Given the description of an element on the screen output the (x, y) to click on. 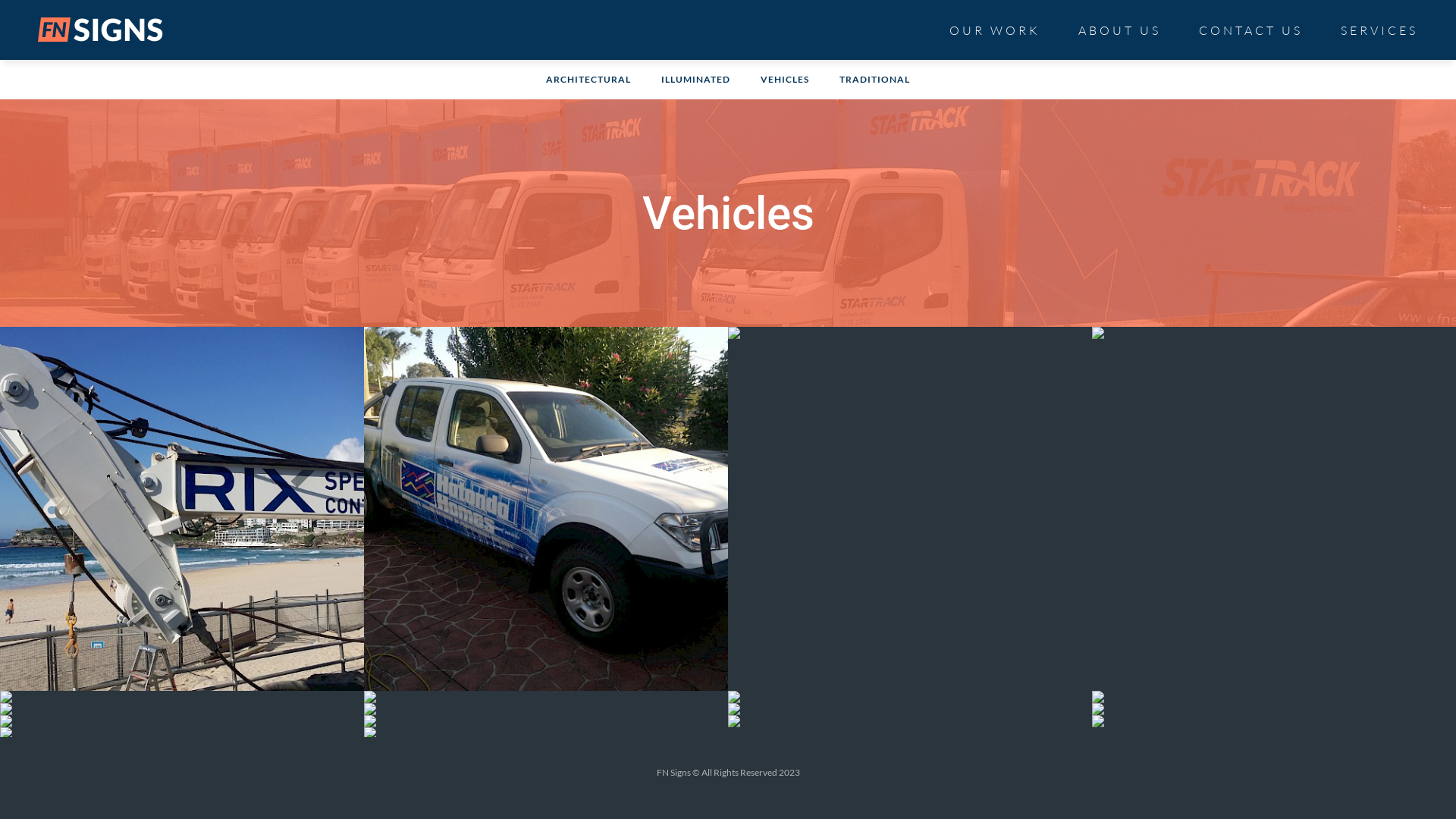
SERVICES Element type: text (1379, 27)
OUR WORK Element type: text (994, 27)
TRADITIONAL Element type: text (874, 78)
ARCHITECTURAL Element type: text (588, 78)
VEHICLES Element type: text (784, 78)
CONTACT US Element type: text (1250, 27)
ILLUMINATED Element type: text (695, 78)
ABOUT US Element type: text (1119, 27)
